Given the description of an element on the screen output the (x, y) to click on. 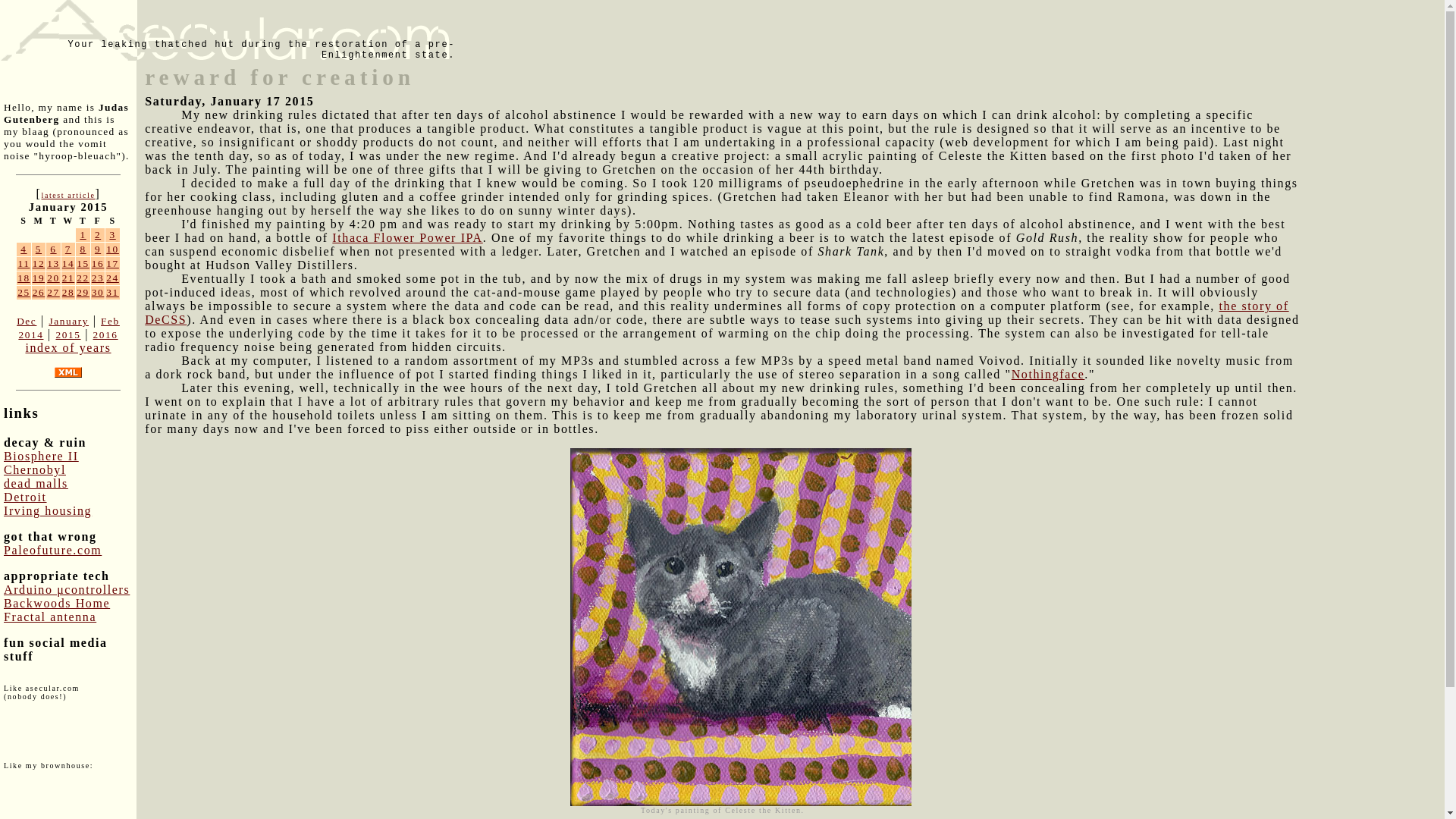
11 (23, 263)
31 (112, 292)
29 (82, 292)
15 (82, 263)
19 (38, 277)
Feb (109, 320)
January (68, 320)
26 (38, 292)
10 (112, 248)
23 (97, 277)
